Given the description of an element on the screen output the (x, y) to click on. 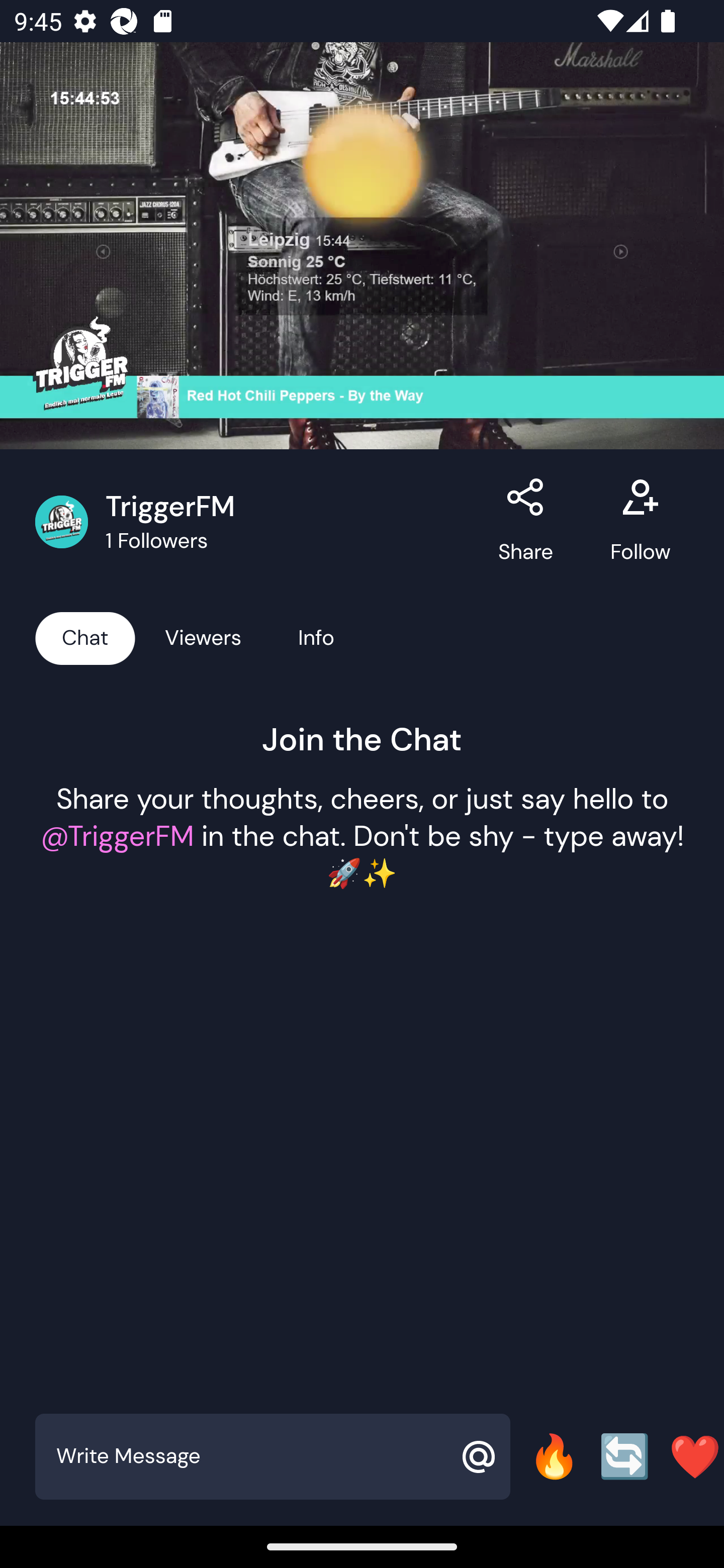
TriggerFM, 1 Followers TriggerFM 1 Followers (256, 521)
Share (525, 521)
Follow (640, 521)
Chat (84, 636)
Viewers (203, 636)
Info (316, 636)
Write Message (250, 1456)
🔥 (553, 1456)
🔄 (624, 1456)
❤️ (694, 1456)
